Given the description of an element on the screen output the (x, y) to click on. 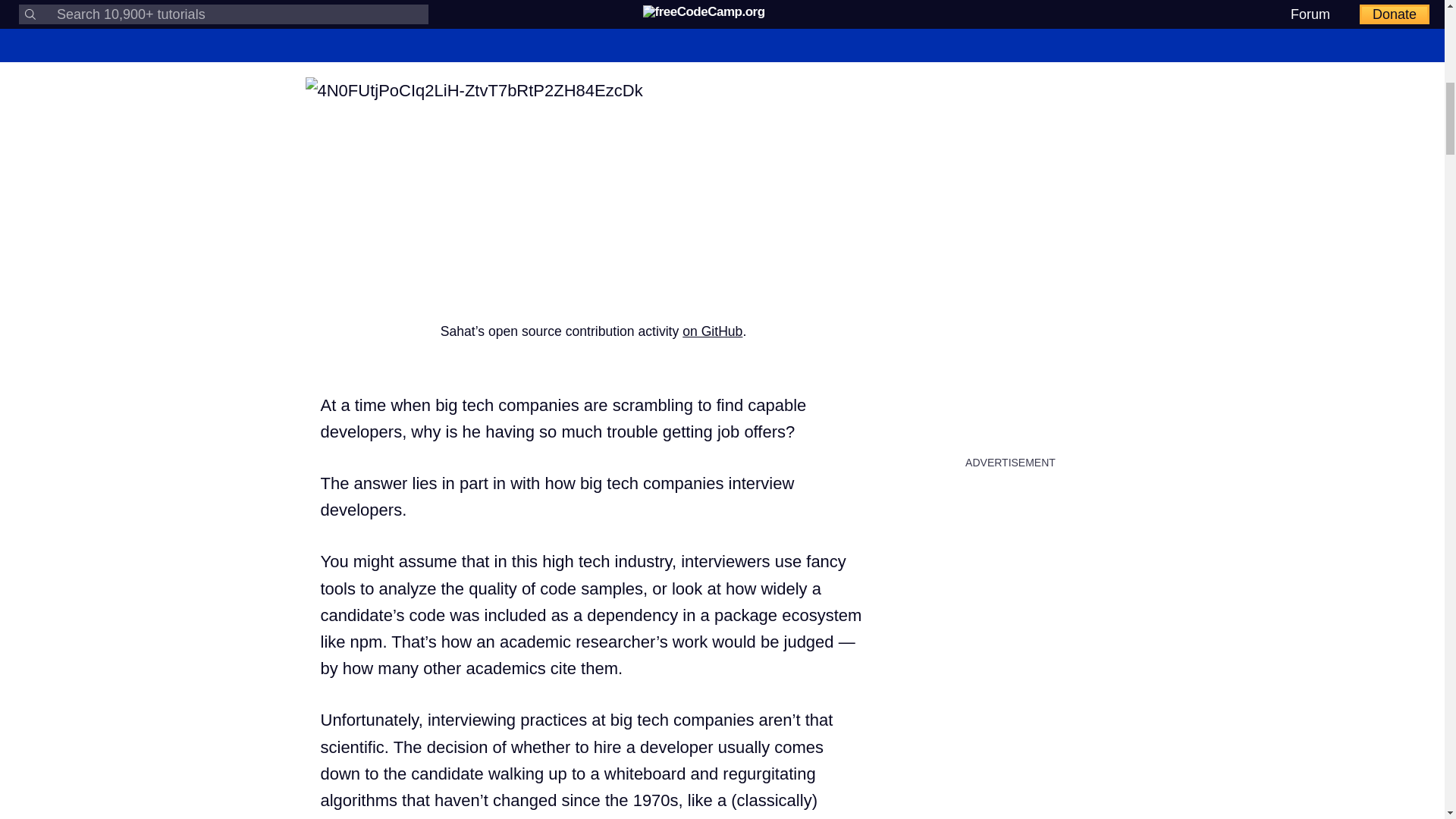
on GitHub (712, 331)
